Given the description of an element on the screen output the (x, y) to click on. 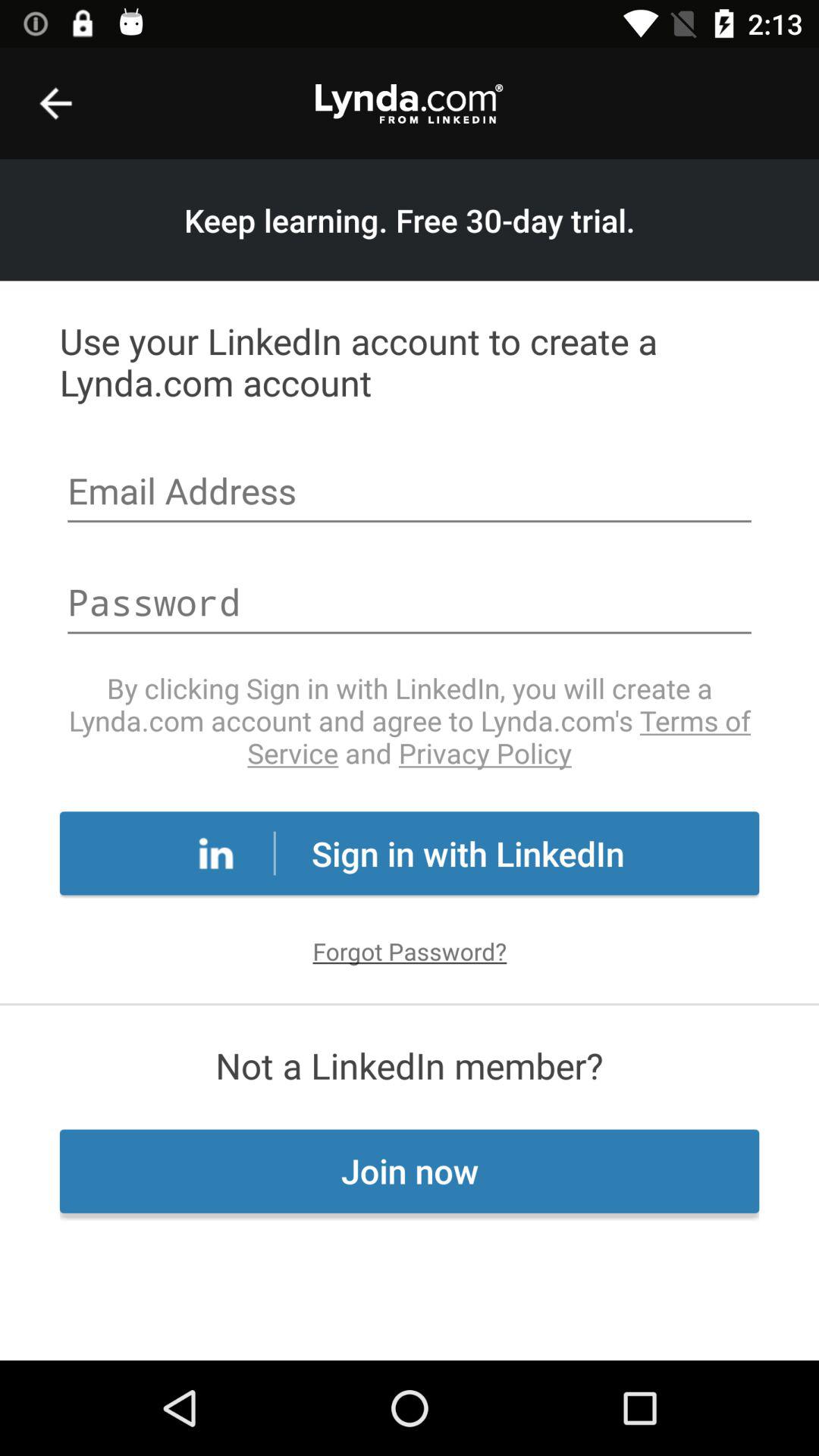
flip until the join now (409, 1171)
